Given the description of an element on the screen output the (x, y) to click on. 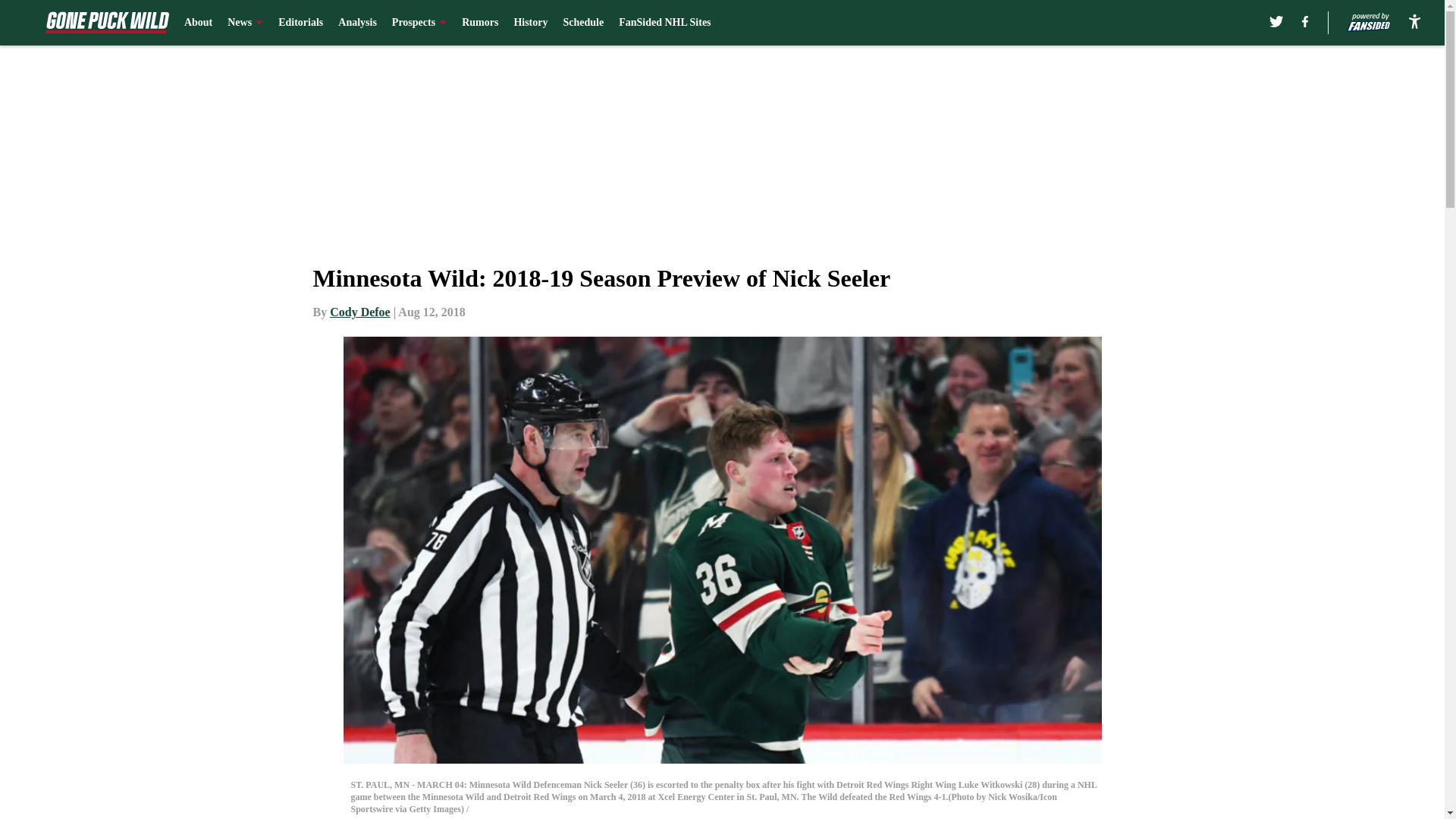
About (198, 22)
Editorials (300, 22)
Cody Defoe (360, 311)
History (530, 22)
FanSided NHL Sites (664, 22)
Schedule (583, 22)
Rumors (479, 22)
Analysis (357, 22)
